Given the description of an element on the screen output the (x, y) to click on. 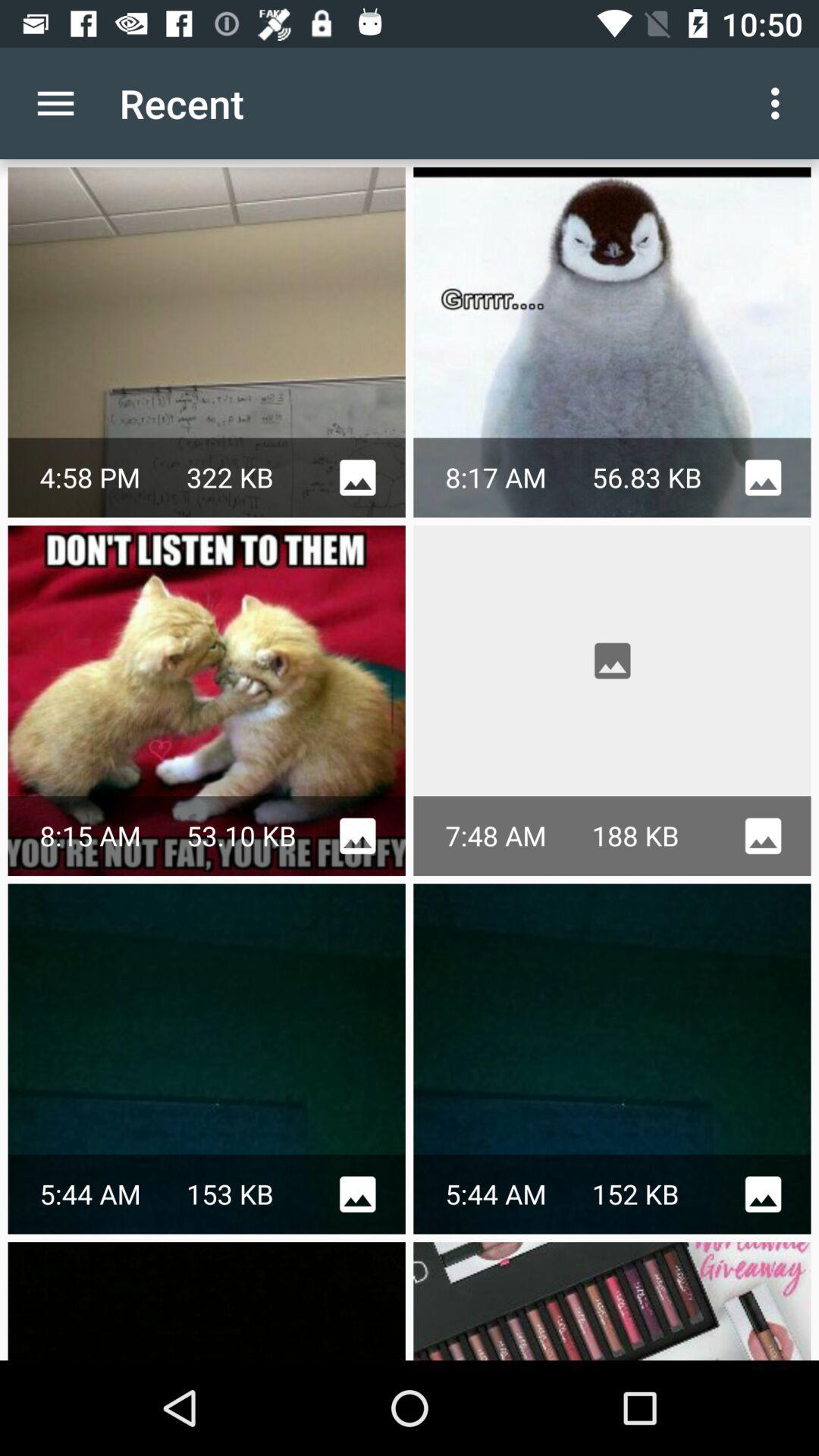
tap app next to recent app (779, 103)
